Given the description of an element on the screen output the (x, y) to click on. 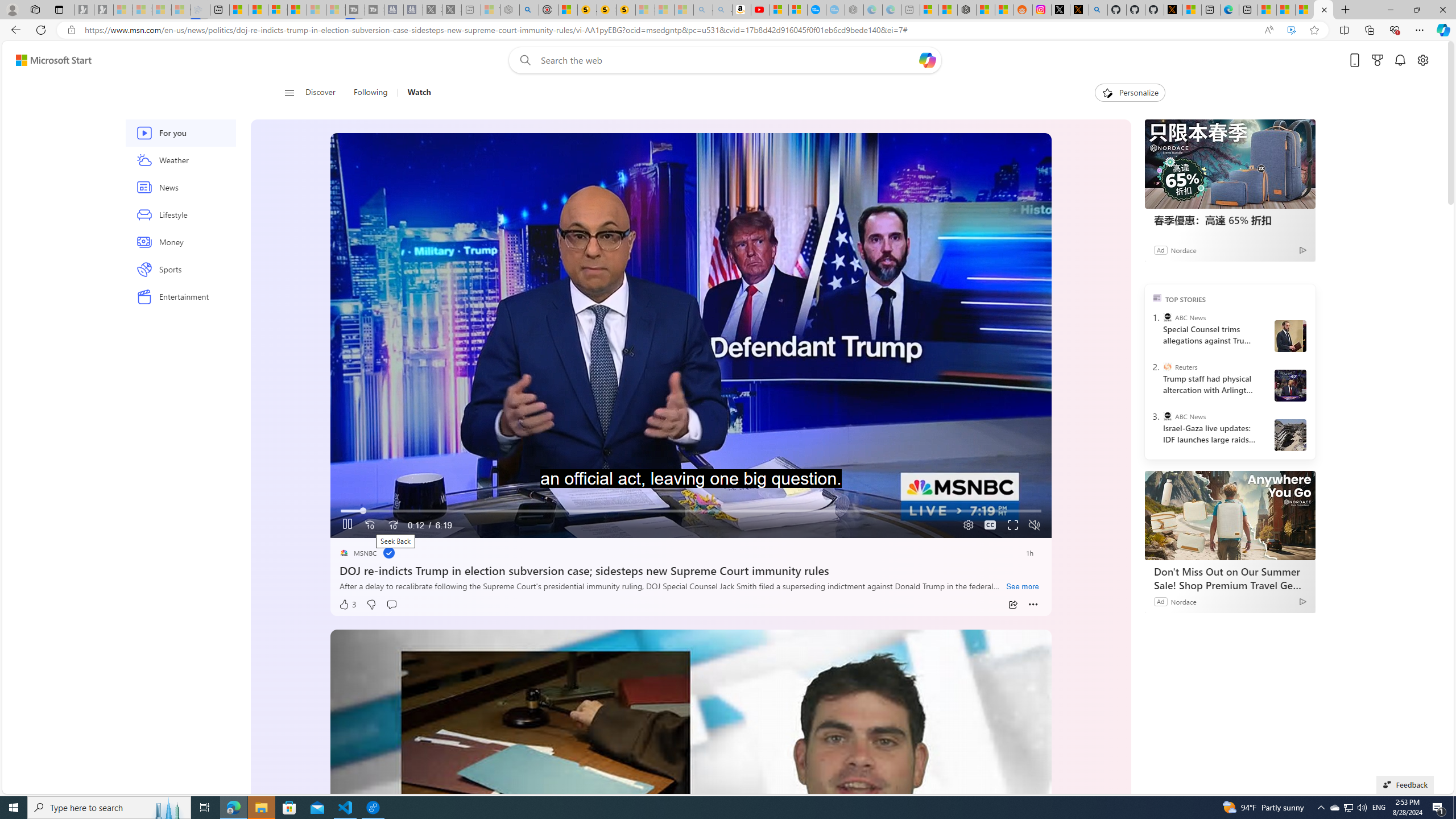
Overview (277, 9)
Pause (347, 525)
Class: button-glyph (289, 92)
Captions (989, 525)
Watch (413, 92)
Dislike (371, 604)
More (1033, 604)
